Given the description of an element on the screen output the (x, y) to click on. 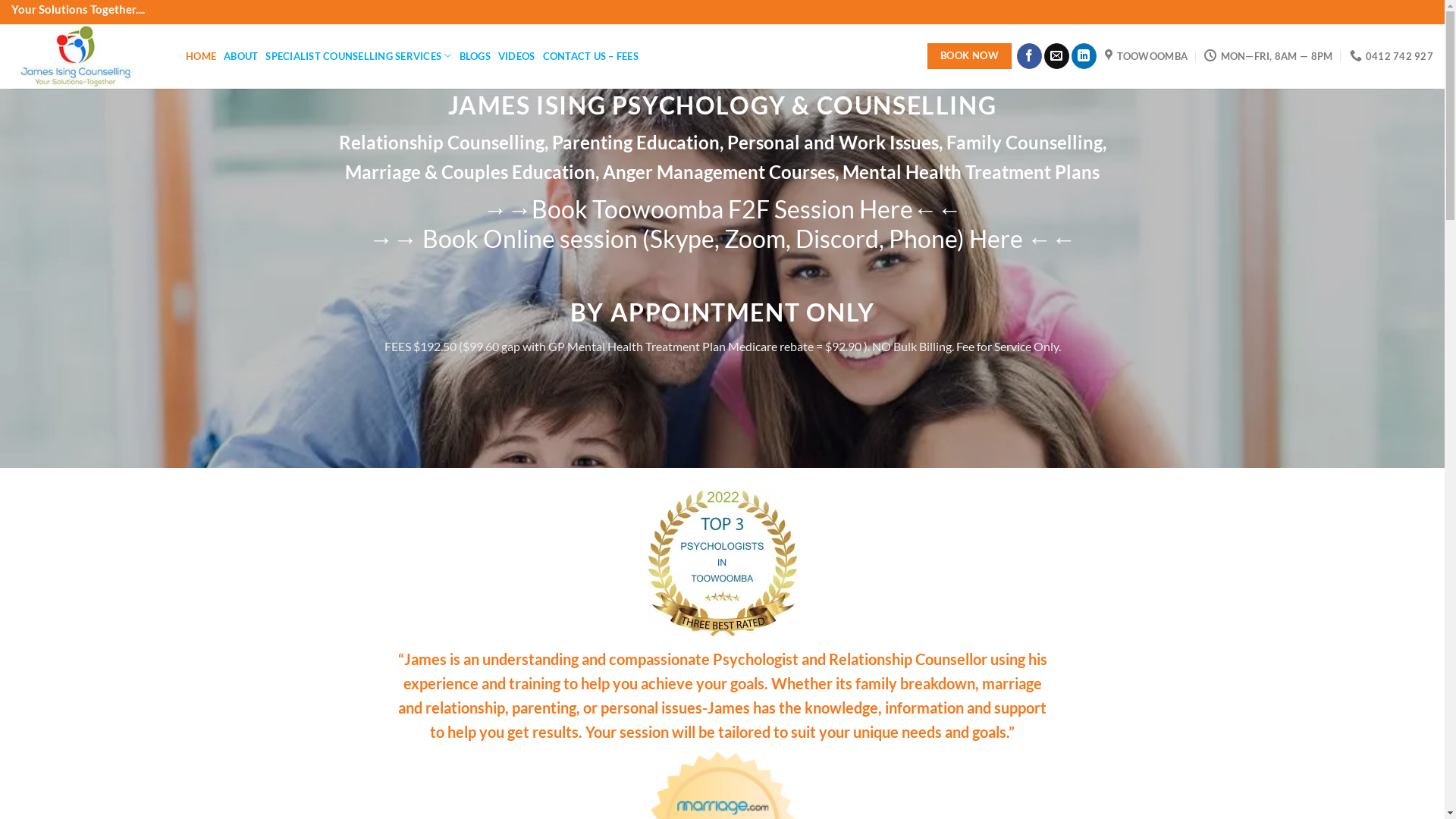
BOOK NOW Element type: text (969, 56)
VIDEOS Element type: text (516, 55)
HOME Element type: text (200, 55)
ABOUT Element type: text (240, 55)
TOOWOOMBA Element type: text (1145, 55)
best psychologist toowoomba Element type: hover (721, 563)
BLOGS Element type: text (474, 55)
0412 742 927 Element type: text (1391, 55)
SPECIALIST COUNSELLING SERVICES Element type: text (358, 55)
